Given the description of an element on the screen output the (x, y) to click on. 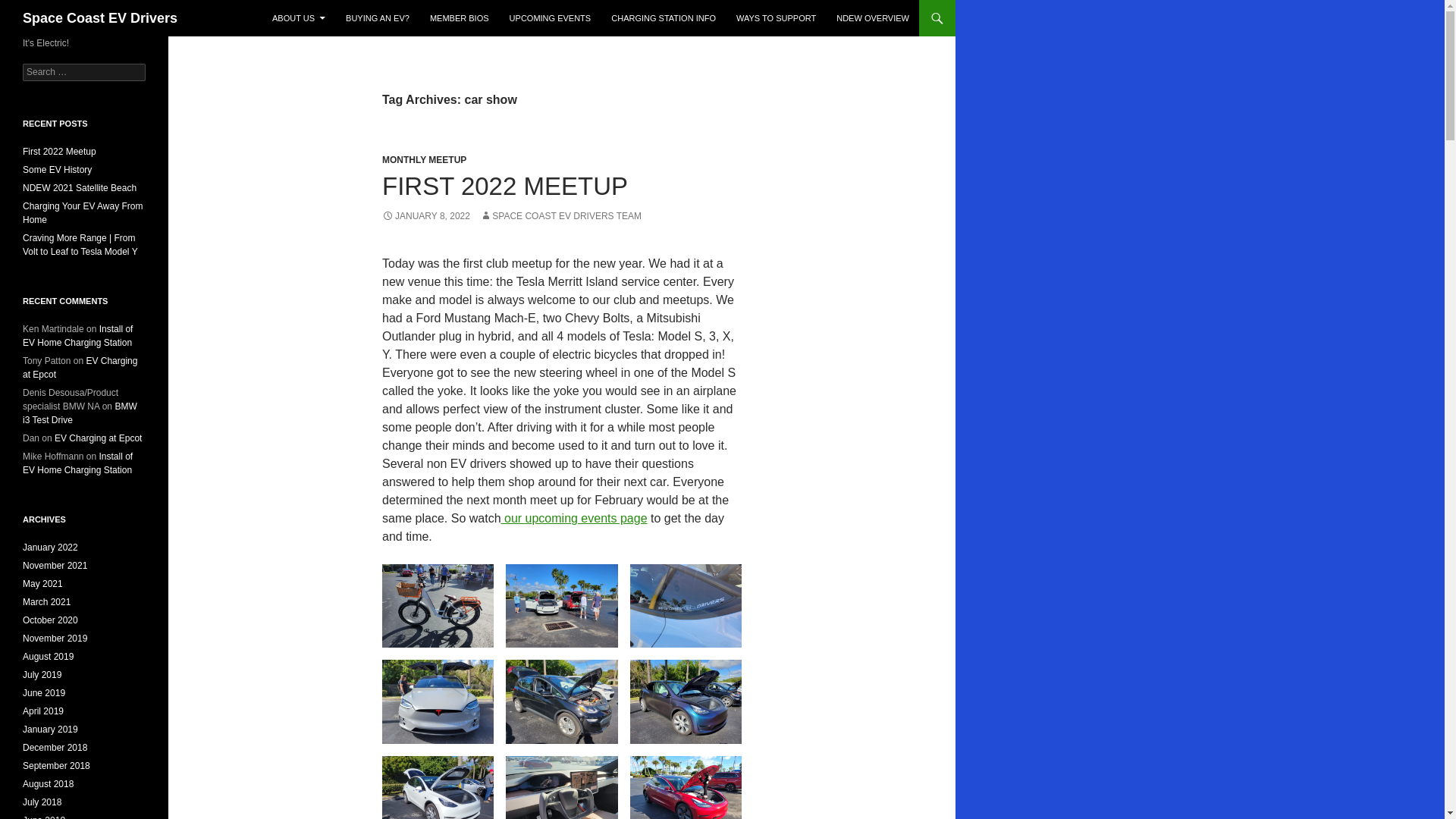
UPCOMING EVENTS (549, 18)
SPACE COAST EV DRIVERS TEAM (561, 215)
ABOUT US (298, 18)
FIRST 2022 MEETUP (504, 185)
NDEW OVERVIEW (872, 18)
our upcoming events page (573, 517)
Space Coast EV Drivers (100, 18)
WAYS TO SUPPORT (775, 18)
MEMBER BIOS (458, 18)
BUYING AN EV? (377, 18)
CHARGING STATION INFO (663, 18)
MONTHLY MEETUP (423, 159)
JANUARY 8, 2022 (425, 215)
